Given the description of an element on the screen output the (x, y) to click on. 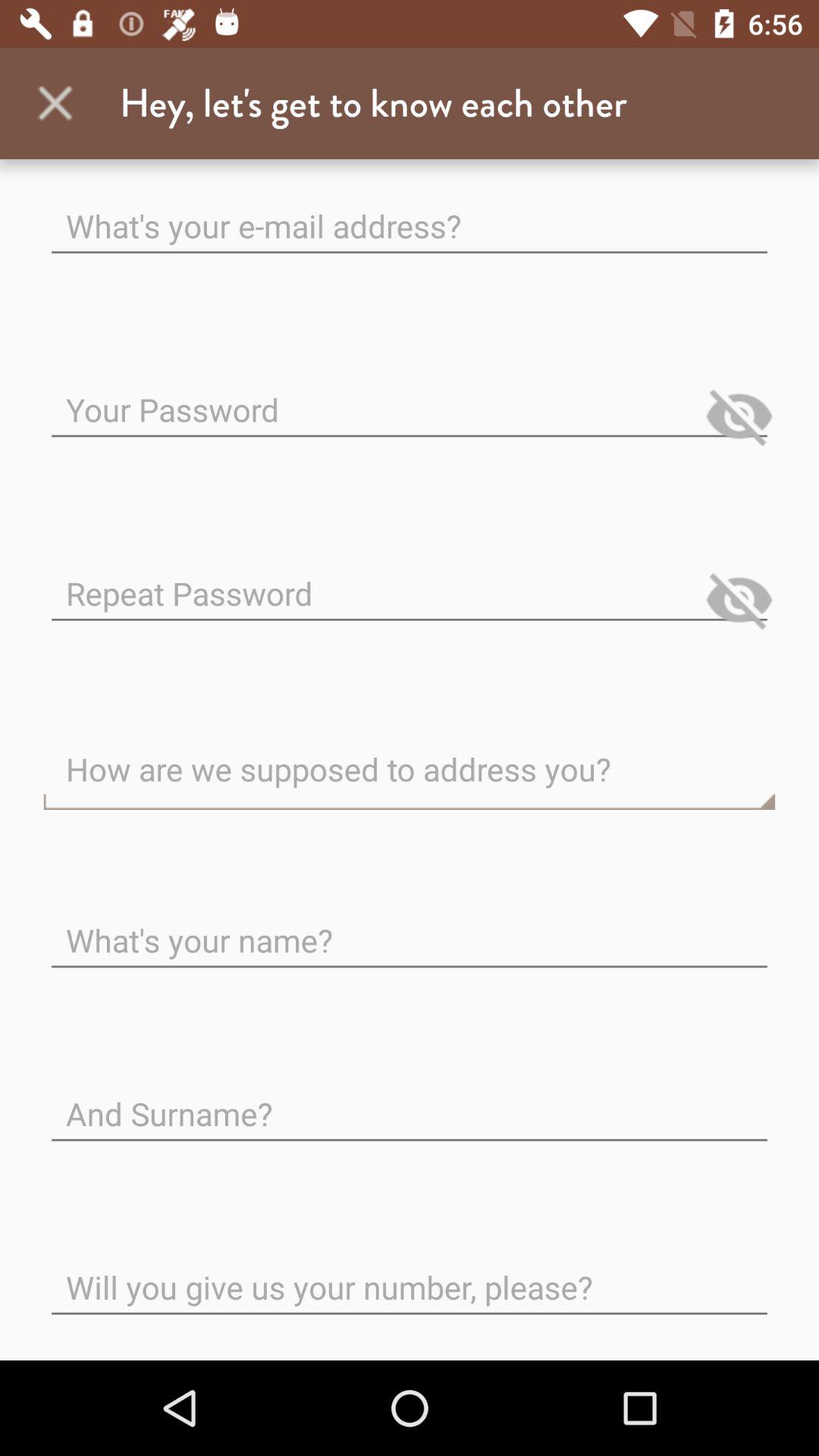
enter your name (409, 928)
